Given the description of an element on the screen output the (x, y) to click on. 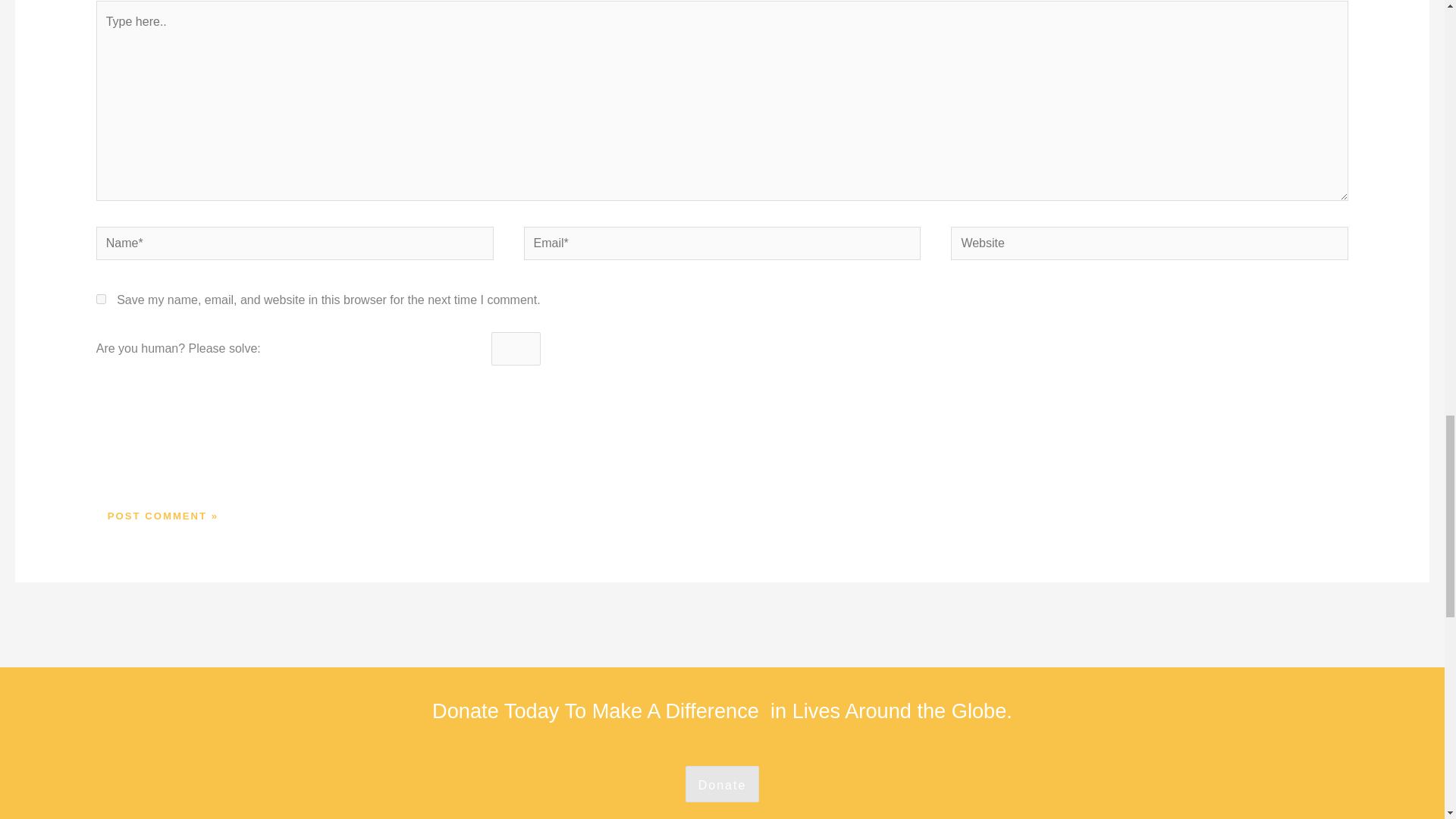
yes (101, 298)
